Given the description of an element on the screen output the (x, y) to click on. 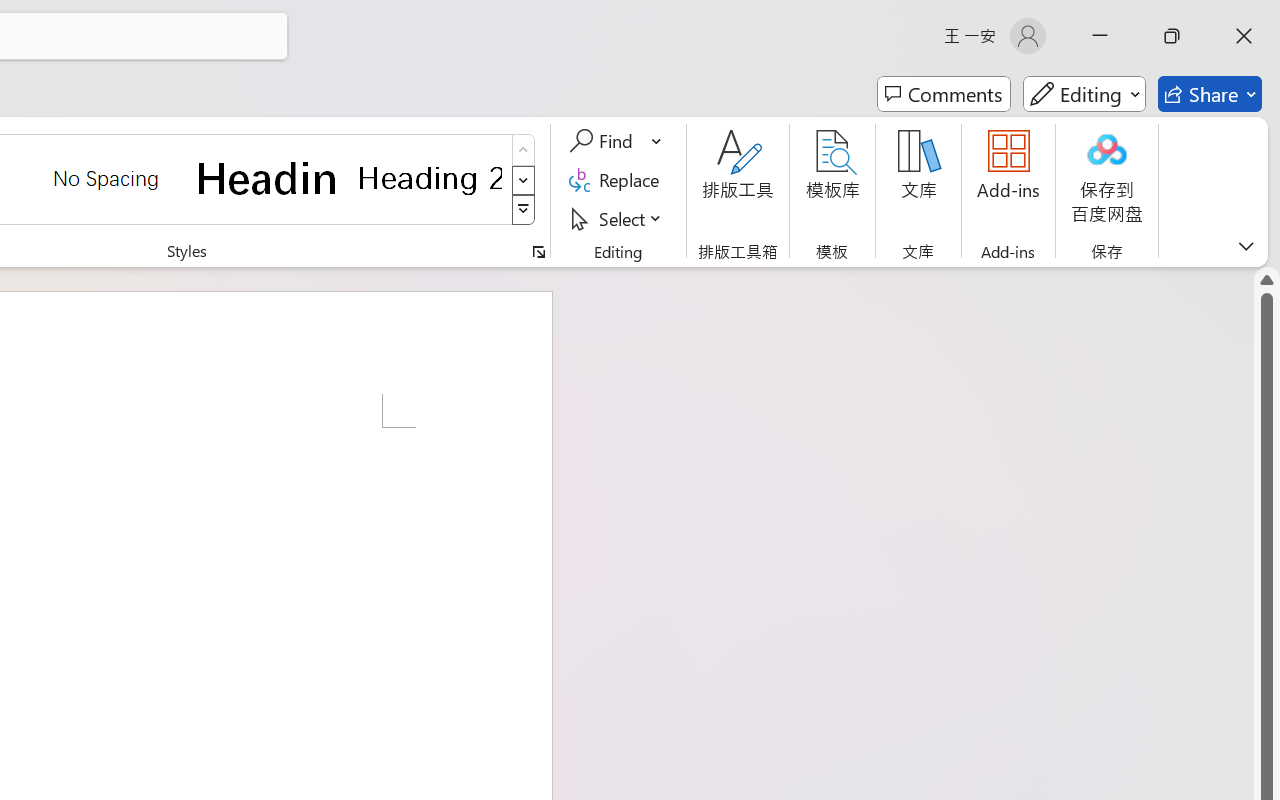
Select (618, 218)
Row up (523, 150)
Heading 2 (429, 178)
Row Down (523, 180)
Styles... (538, 252)
Styles (523, 209)
